Given the description of an element on the screen output the (x, y) to click on. 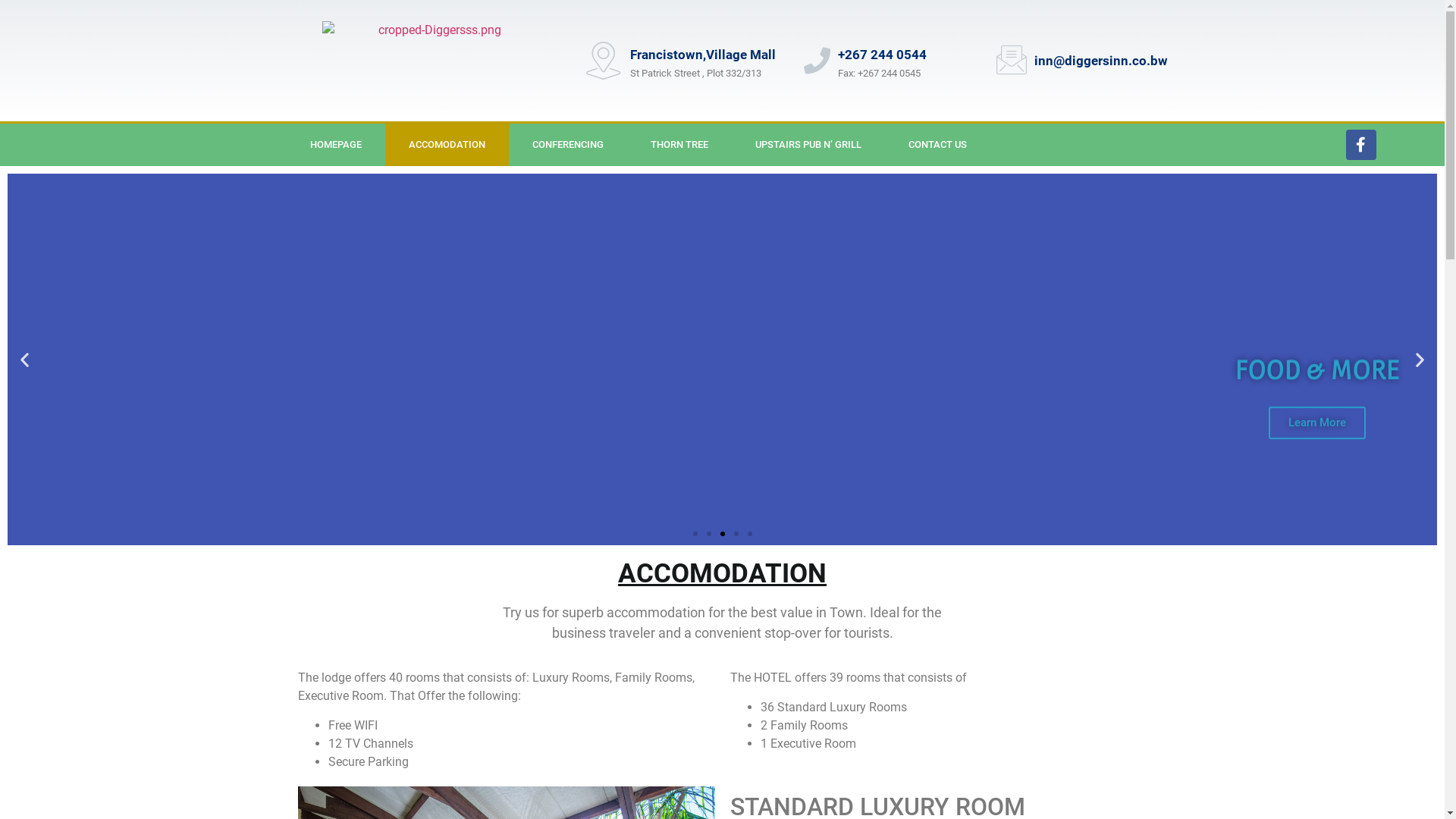
HOMEPAGE Element type: text (335, 144)
CONFERENCING Element type: text (567, 144)
ACCOMODATION Element type: text (446, 144)
CONTACT US Element type: text (937, 144)
THORN TREE Element type: text (679, 144)
cropped-Diggersss.png Element type: hover (432, 60)
